Given the description of an element on the screen output the (x, y) to click on. 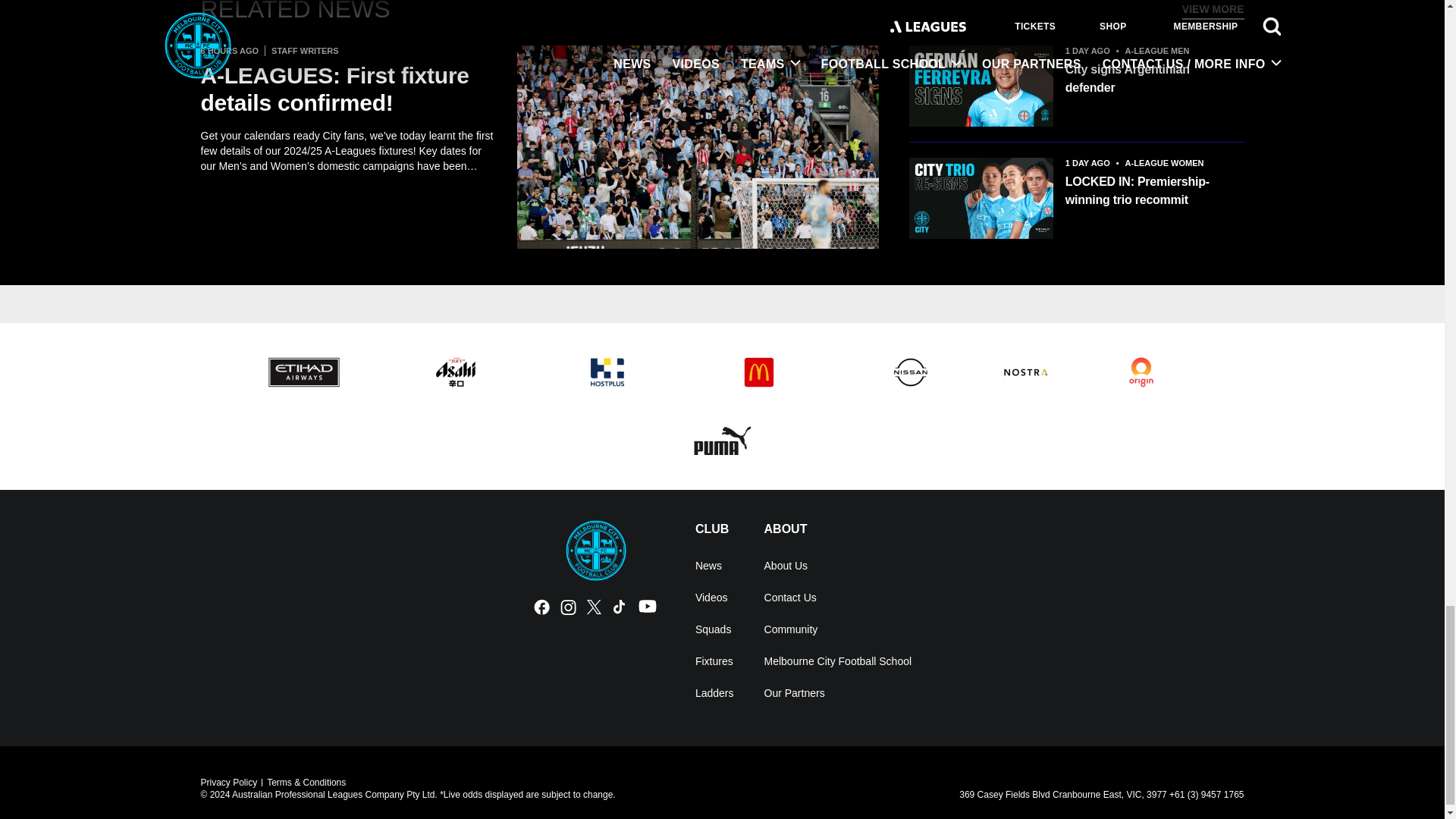
Origin (1140, 371)
Hostplus (606, 371)
Etihad Airways (303, 371)
Asahi Super Dry (454, 371)
PUMA (722, 440)
Nostra (1025, 372)
Nissan (909, 371)
